Given the description of an element on the screen output the (x, y) to click on. 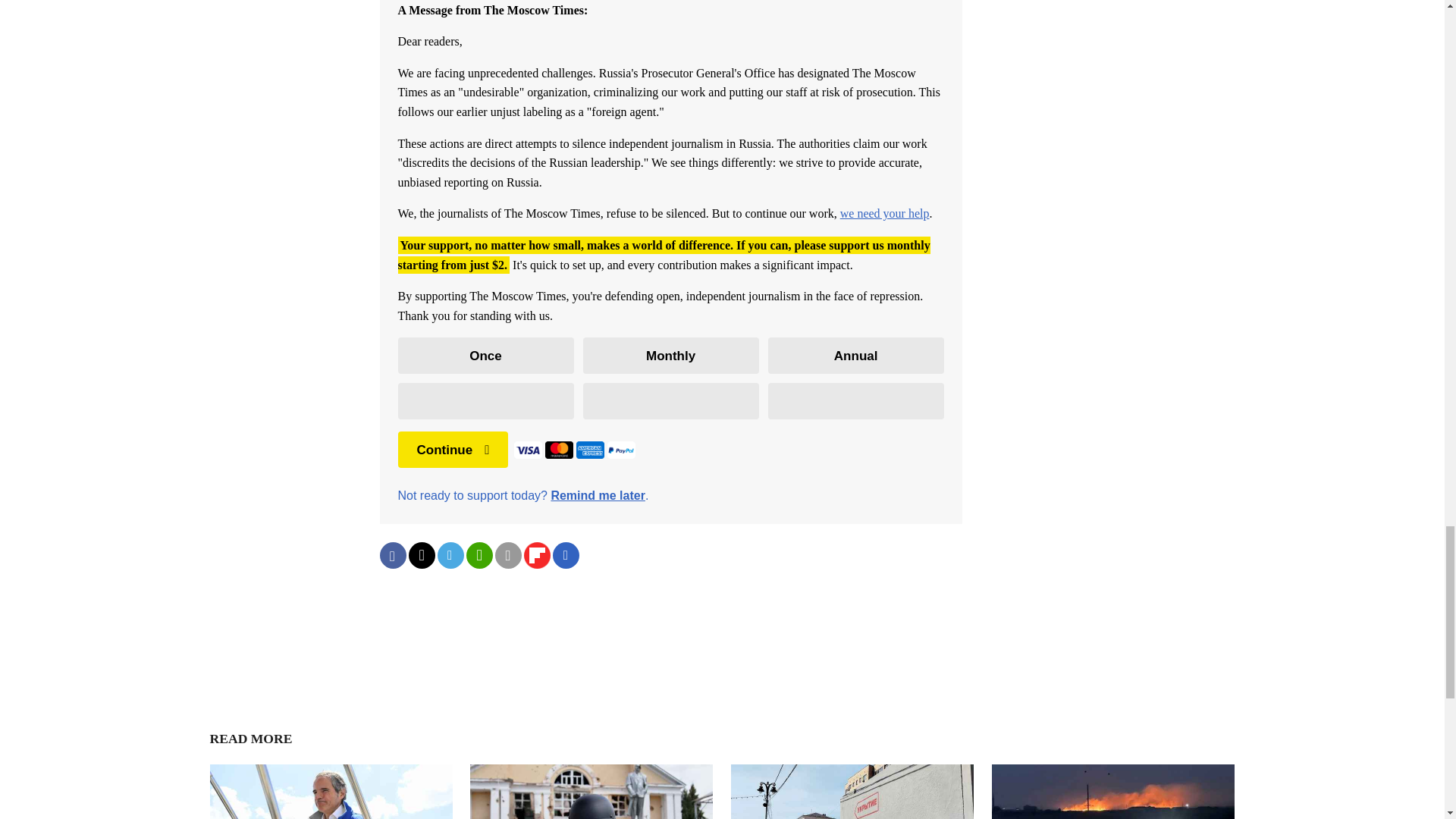
Share on Facebook (392, 555)
Share on Flipboard (536, 555)
Share on Twitter (420, 555)
Share on Telegram (449, 555)
we need your help (885, 213)
